Given the description of an element on the screen output the (x, y) to click on. 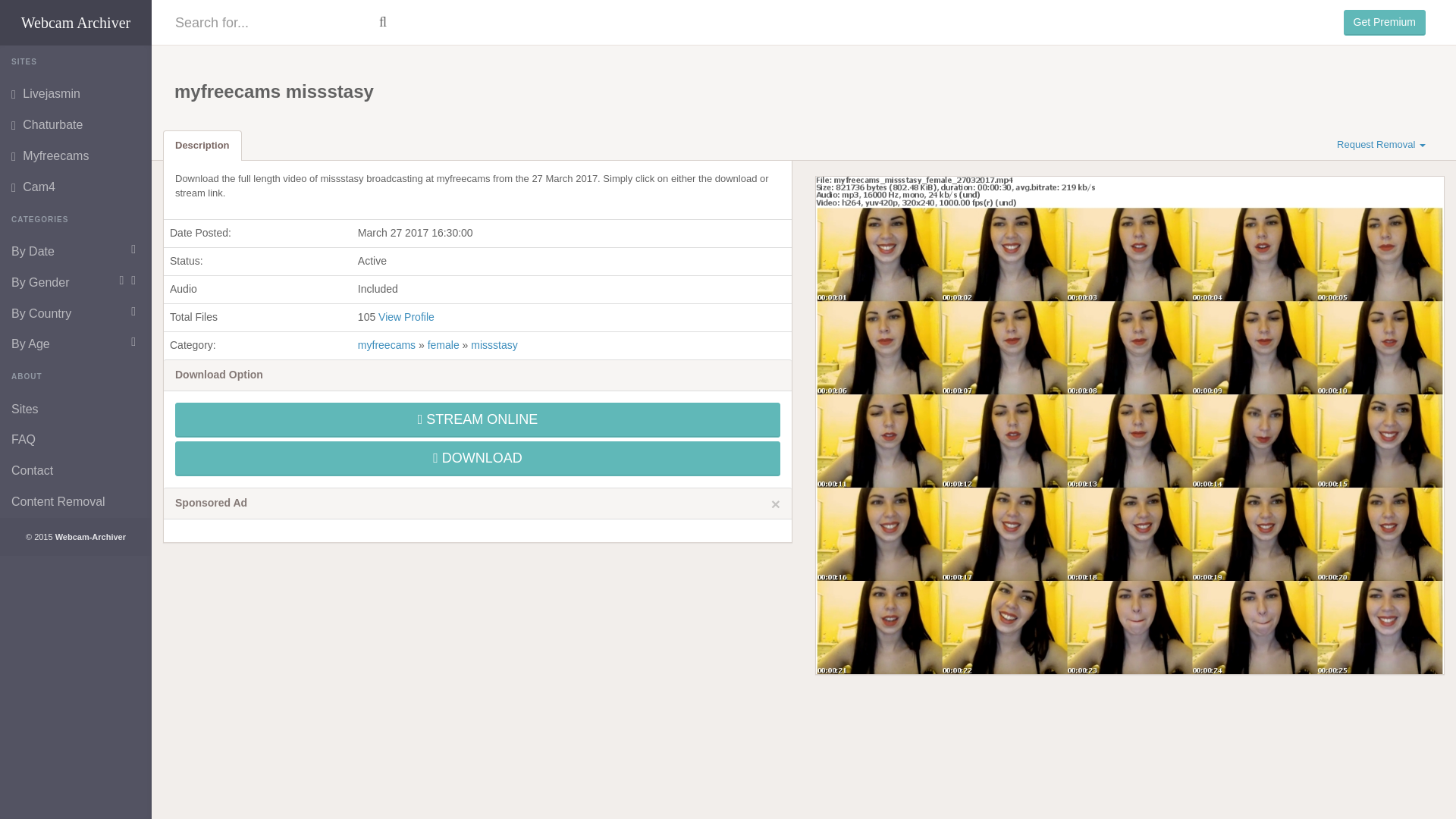
myfreecams missstasy (1129, 424)
Contact (75, 470)
View Profile (405, 316)
By Date (75, 251)
Content Removal (75, 501)
By Gender (75, 282)
FAQ (75, 440)
myfreecams (388, 345)
female (444, 345)
By Country (75, 314)
Request Removal (1380, 144)
Myfreecams (75, 155)
By Age (75, 344)
Get Premium (1384, 22)
Chaturbate (75, 124)
